Given the description of an element on the screen output the (x, y) to click on. 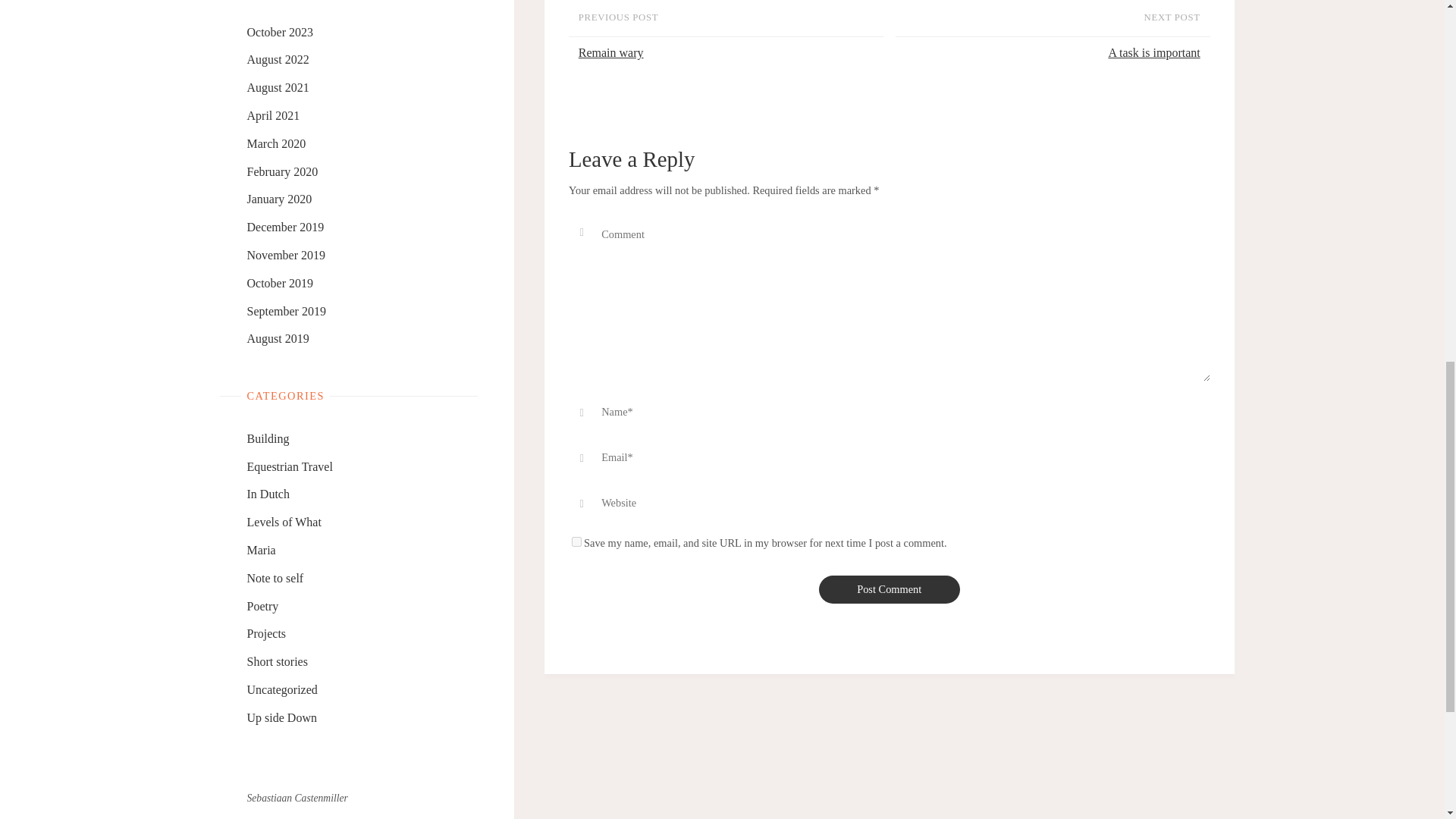
January 2020 (280, 198)
Note to self (275, 577)
Levels of What (284, 521)
March 2020 (276, 143)
In Dutch (268, 493)
Projects (266, 633)
Poetry (263, 605)
yes (576, 542)
October 2019 (280, 282)
Post Comment (888, 589)
